Given the description of an element on the screen output the (x, y) to click on. 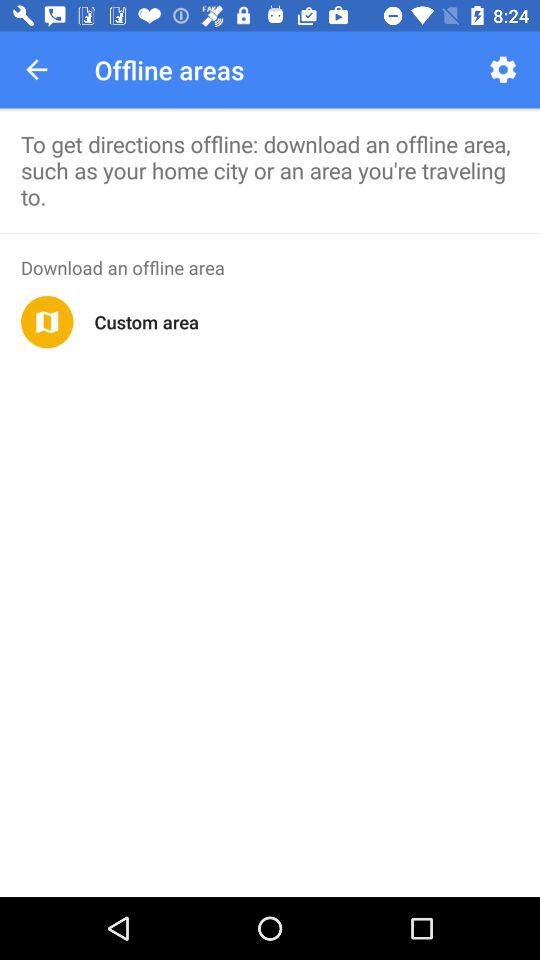
choose the to get directions app (270, 170)
